Given the description of an element on the screen output the (x, y) to click on. 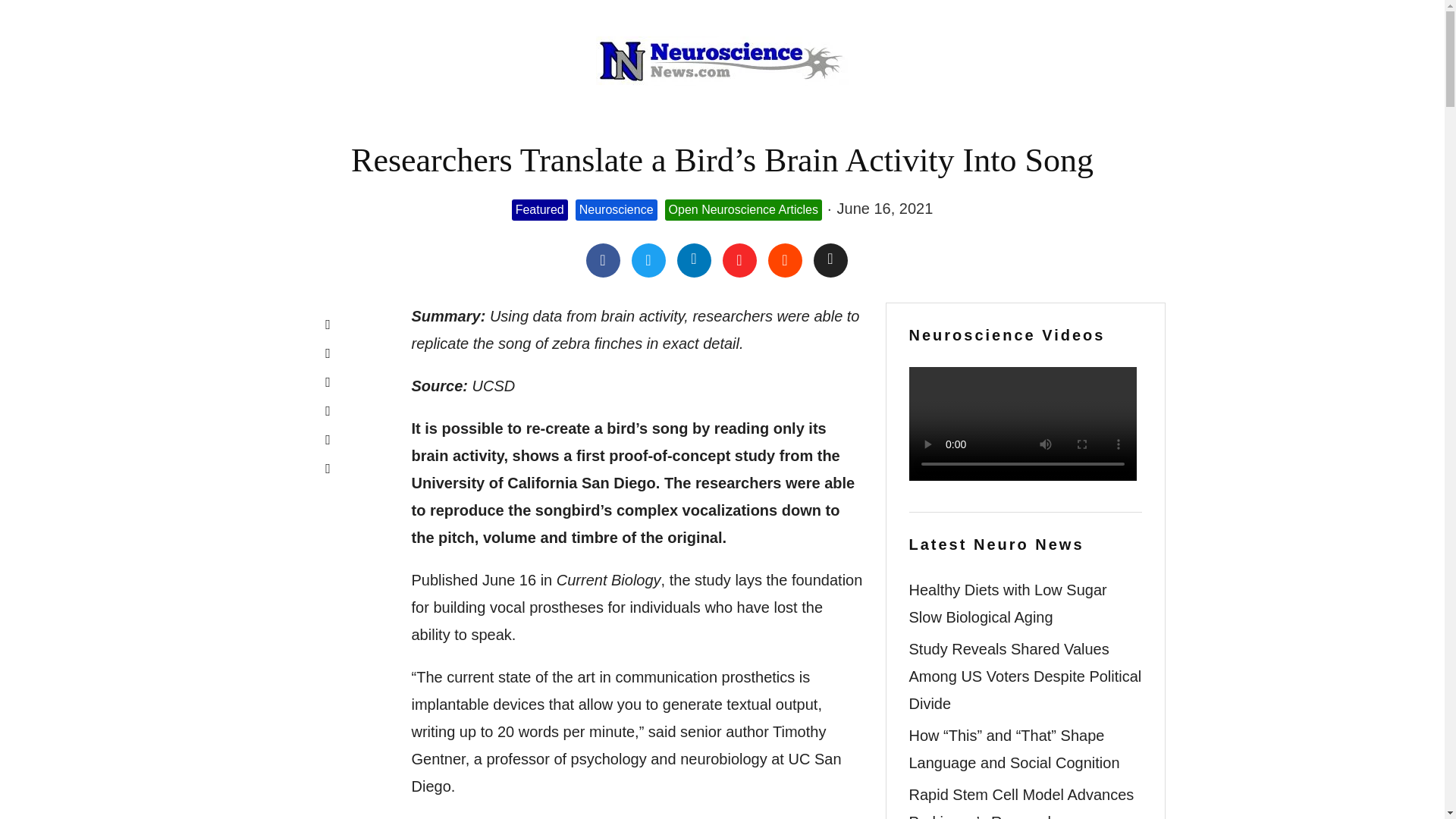
Featured (539, 210)
Neuroscience (616, 210)
Open Neuroscience Articles (743, 210)
